Given the description of an element on the screen output the (x, y) to click on. 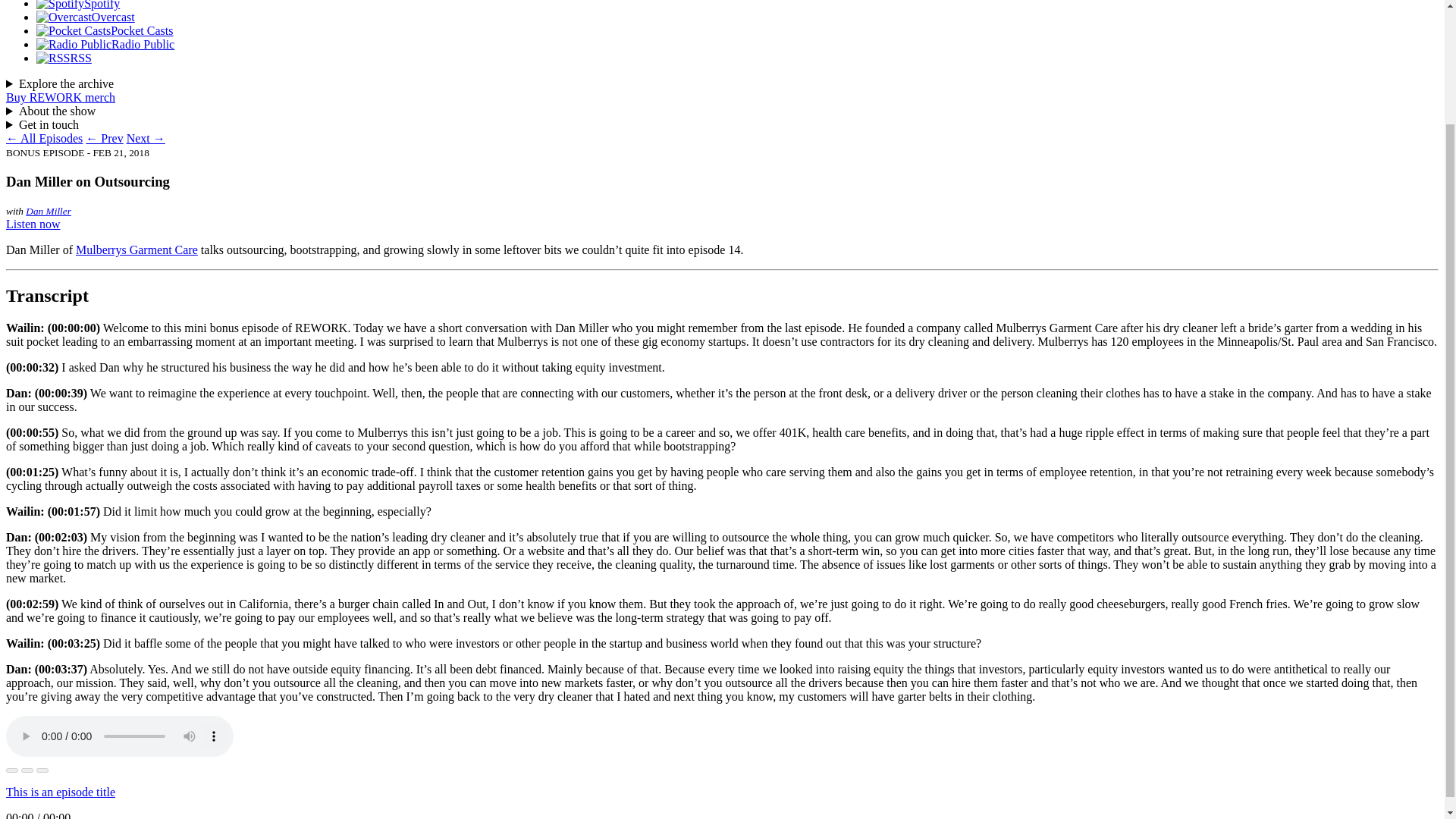
Pocket Casts (104, 30)
Listen now (33, 223)
Mulberrys Garment Care (136, 249)
Spotify (77, 4)
RSS (63, 57)
Buy REWORK merch (60, 97)
Radio Public (105, 43)
Dan Miller (48, 211)
Overcast (85, 16)
